Given the description of an element on the screen output the (x, y) to click on. 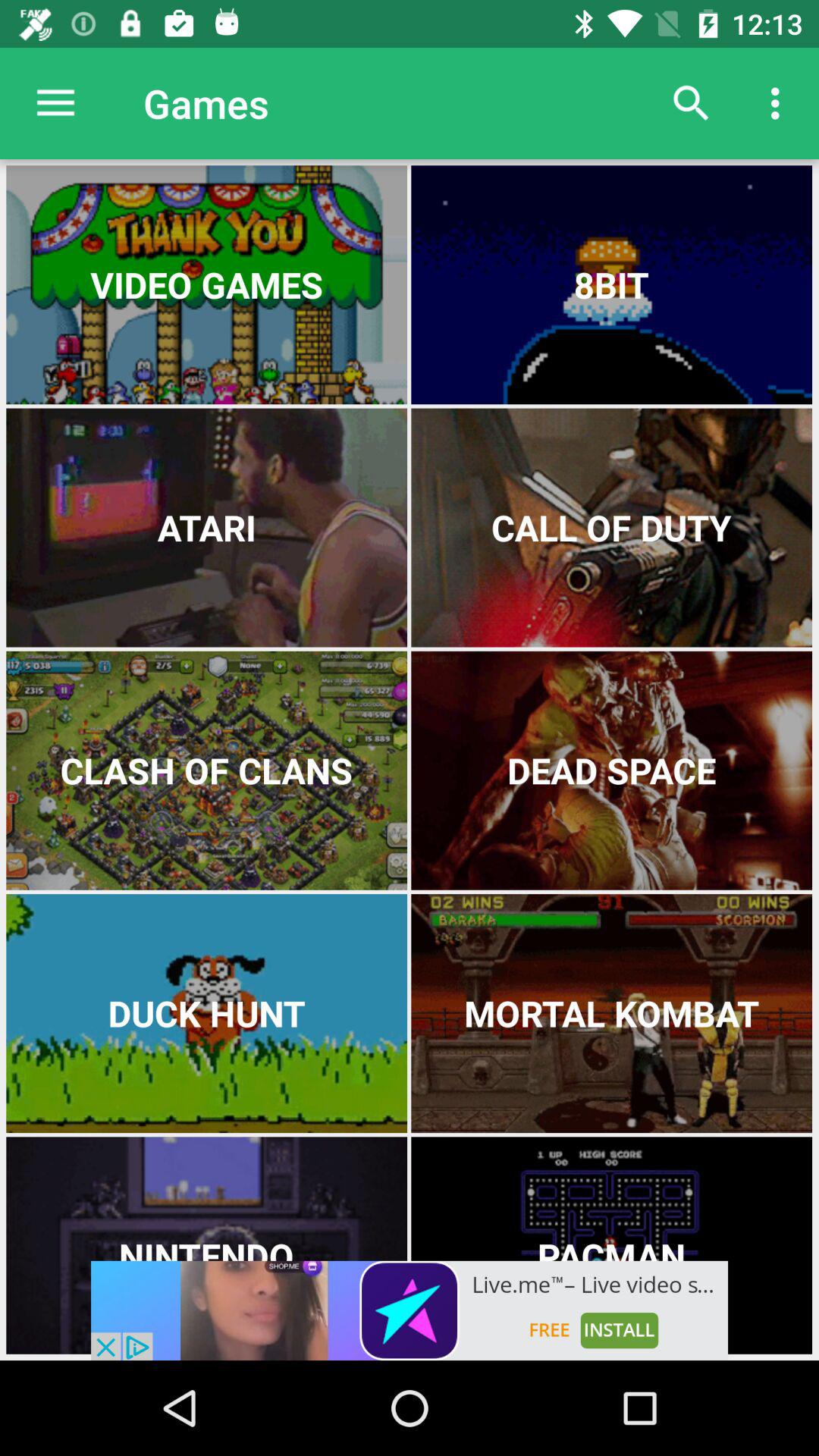
click the icon next to games icon (55, 103)
